Given the description of an element on the screen output the (x, y) to click on. 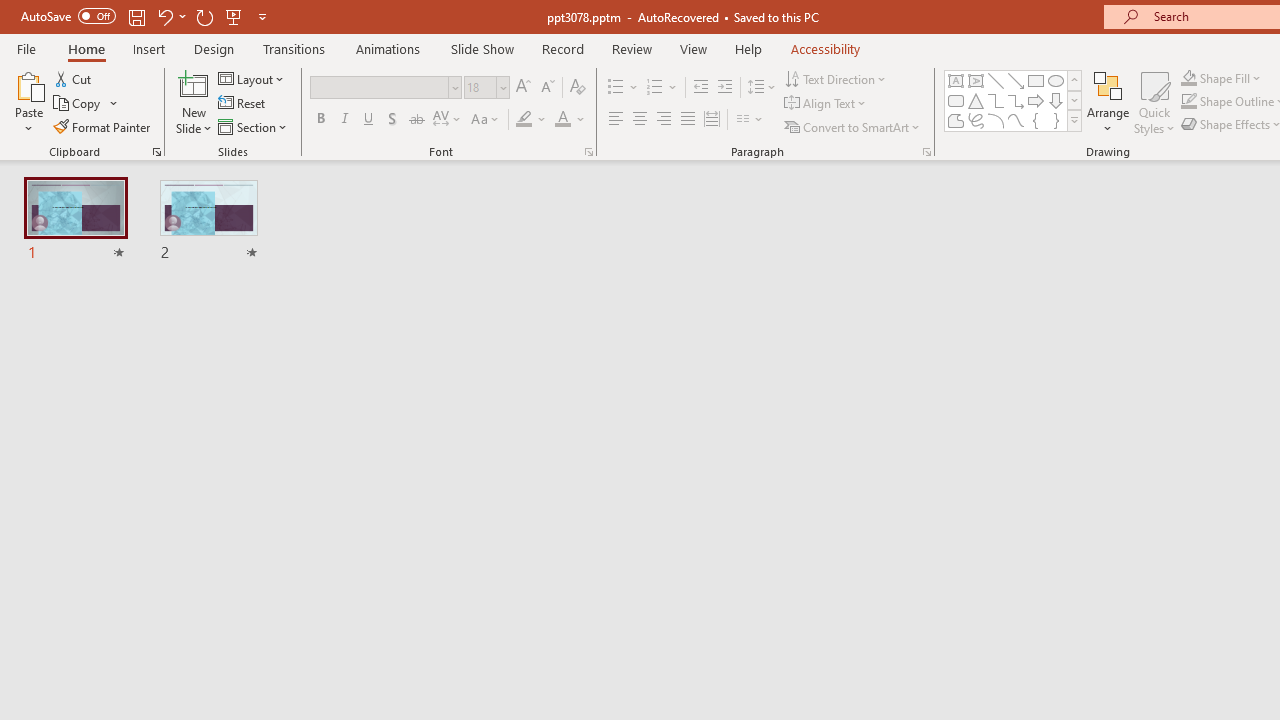
Shape Outline Green, Accent 1 (1188, 101)
